Given the description of an element on the screen output the (x, y) to click on. 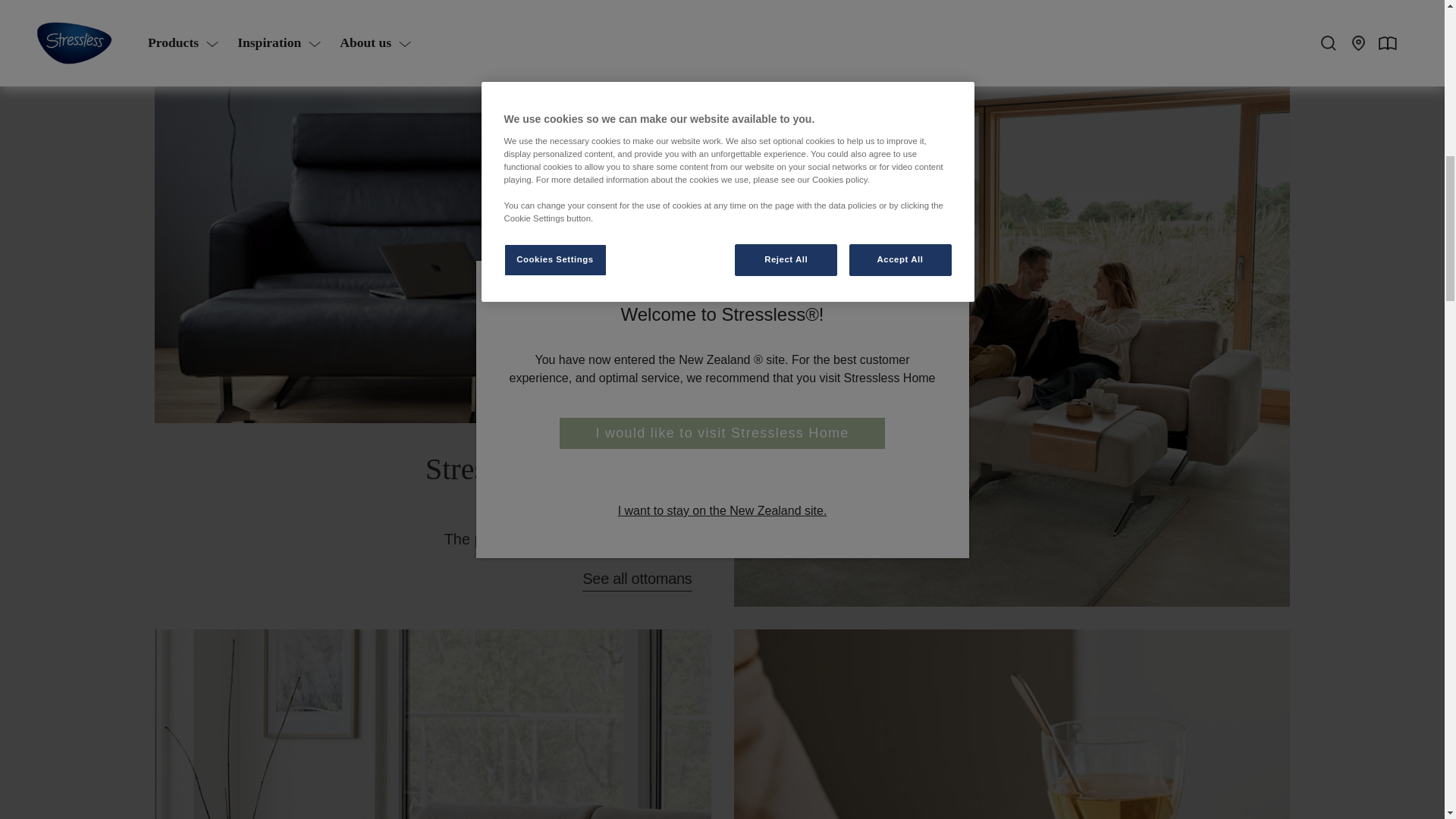
See all ottomans (636, 578)
